Given the description of an element on the screen output the (x, y) to click on. 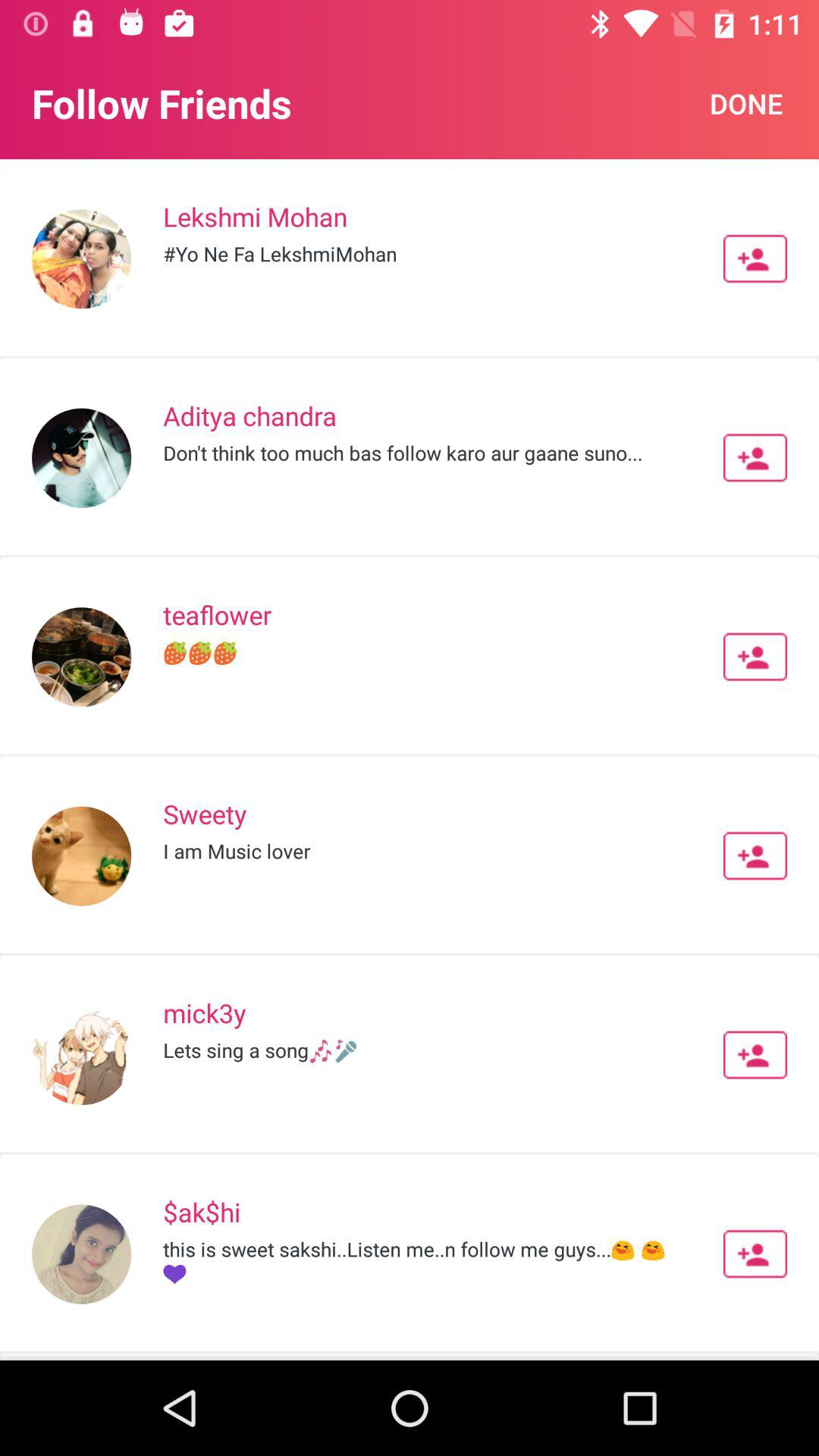
click item to the right of the follow friends icon (746, 103)
